Given the description of an element on the screen output the (x, y) to click on. 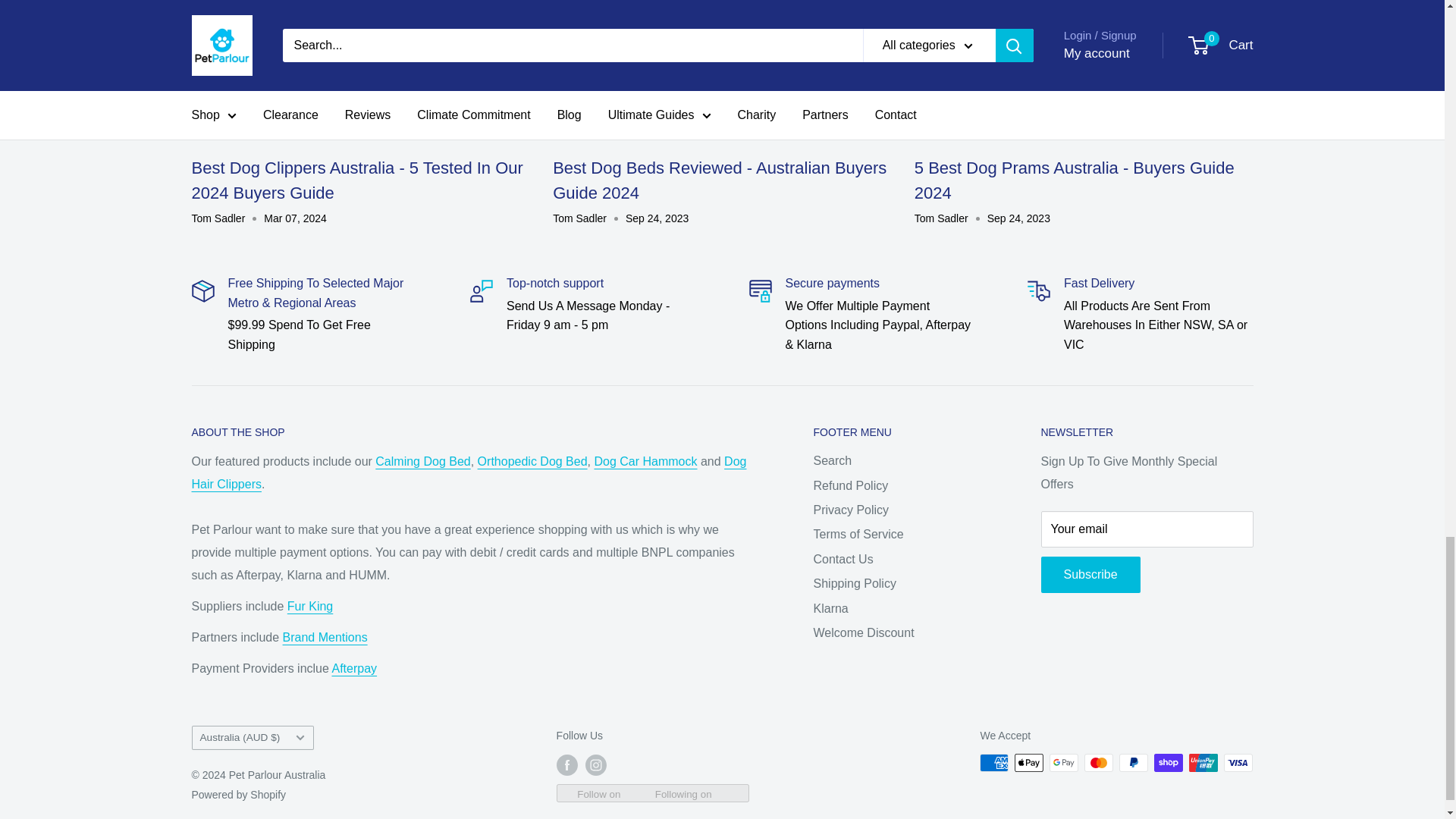
Dog Car Hammock (645, 461)
Dog Hair Clippers (467, 472)
Calming Dog Bed (422, 461)
Orthopedic Dog Bed (532, 461)
